Given the description of an element on the screen output the (x, y) to click on. 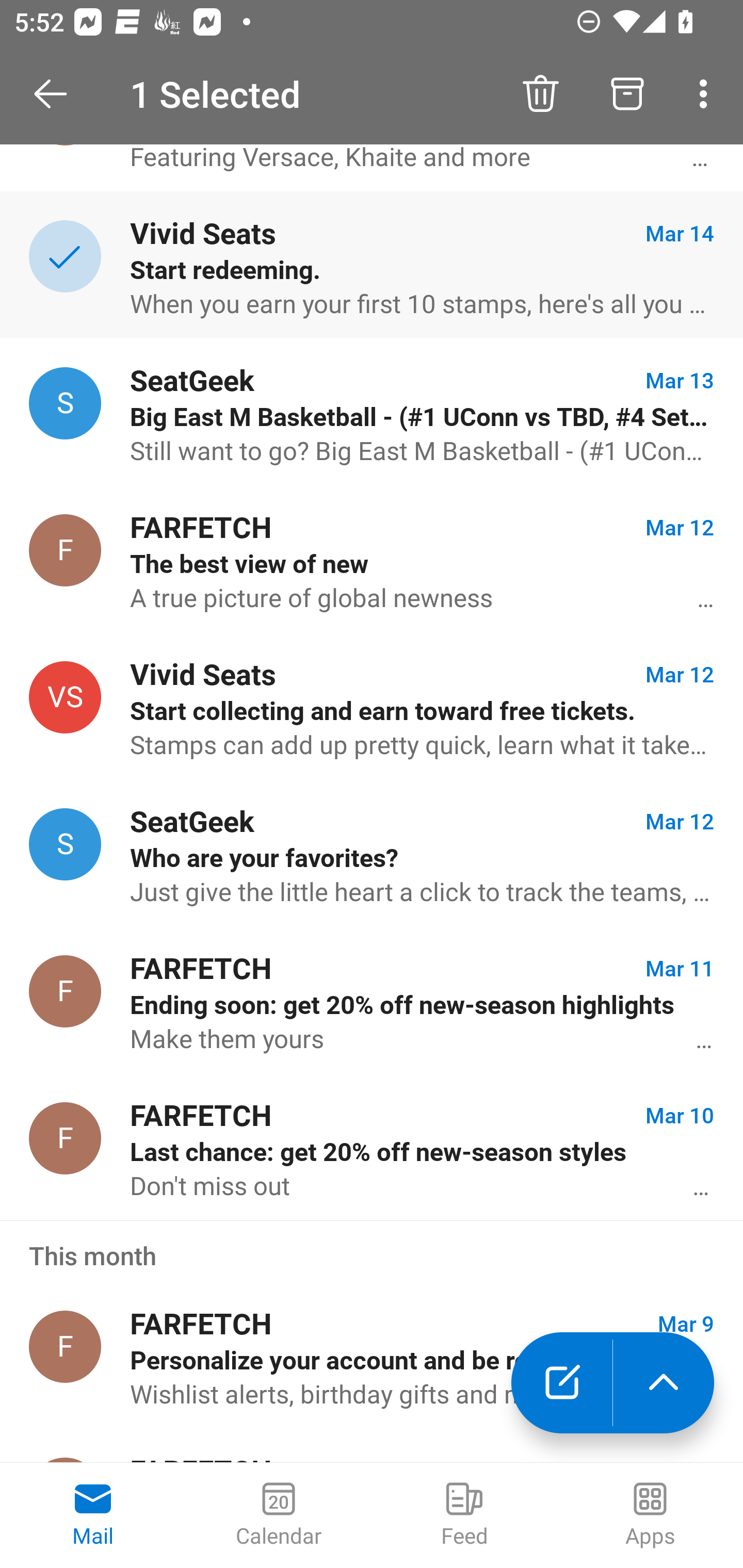
Delete (540, 93)
Archive (626, 93)
More options (706, 93)
Open Navigation Drawer (57, 94)
SeatGeek, events@seatgeek.com (64, 402)
FARFETCH, farfetch@email.farfetch.com (64, 550)
Vivid Seats, tickets@live.vividseats.com (64, 697)
SeatGeek, events@seatgeek.com (64, 844)
FARFETCH, farfetch@email.farfetch.com (64, 990)
FARFETCH, farfetch@email.farfetch.com (64, 1138)
FARFETCH, farfetch@email.farfetch.com (64, 1346)
New mail (561, 1382)
launch the extended action menu (663, 1382)
Calendar (278, 1515)
Feed (464, 1515)
Apps (650, 1515)
